Given the description of an element on the screen output the (x, y) to click on. 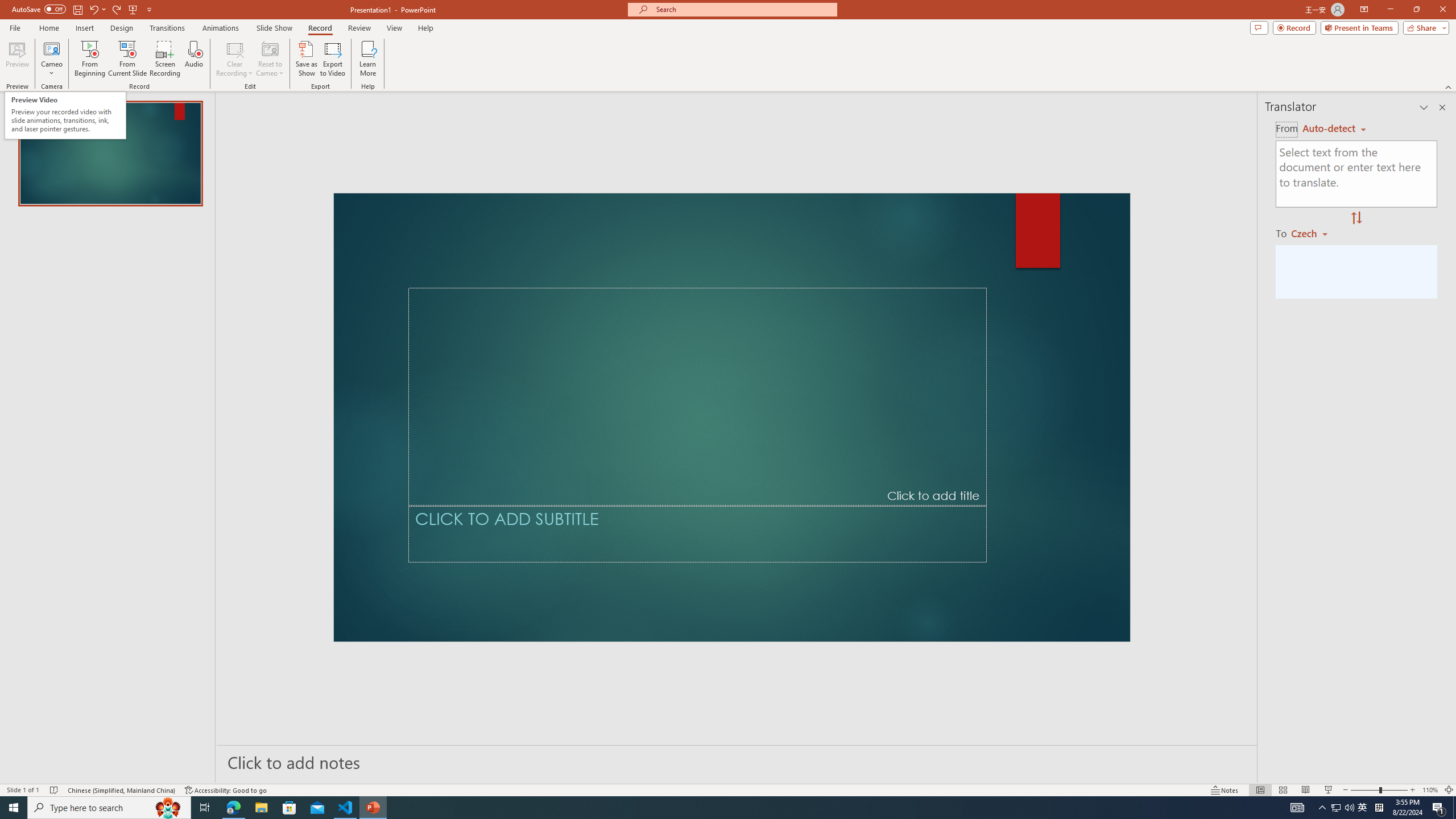
Title TextBox (697, 396)
Zoom 110% (1430, 790)
Audio (193, 58)
From Current Slide... (127, 58)
Czech (1313, 232)
